Given the description of an element on the screen output the (x, y) to click on. 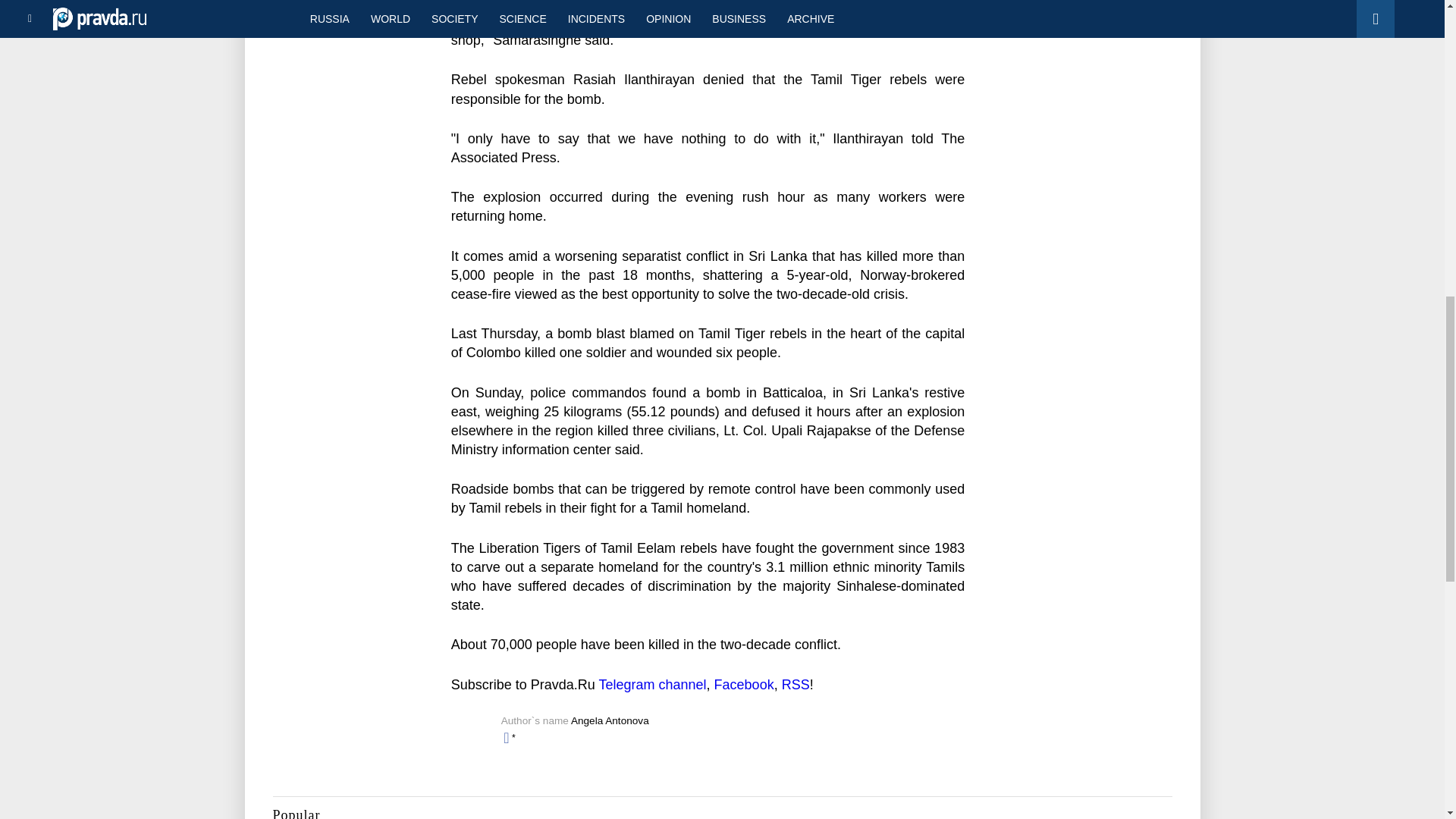
Facebook (744, 684)
RSS (795, 684)
Telegram channel (652, 684)
Back to top (1418, 79)
Angela Antonova (609, 720)
